Given the description of an element on the screen output the (x, y) to click on. 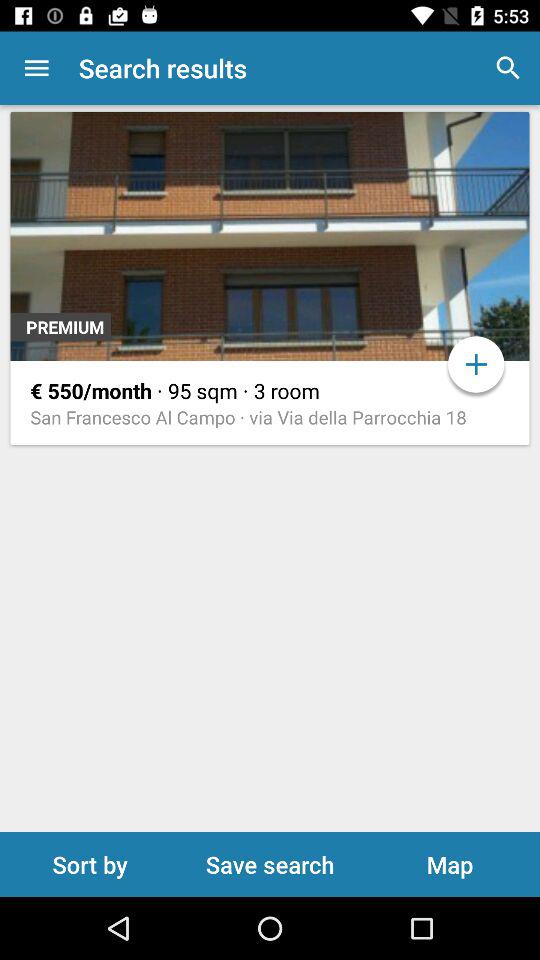
turn off item next to save search item (90, 863)
